Given the description of an element on the screen output the (x, y) to click on. 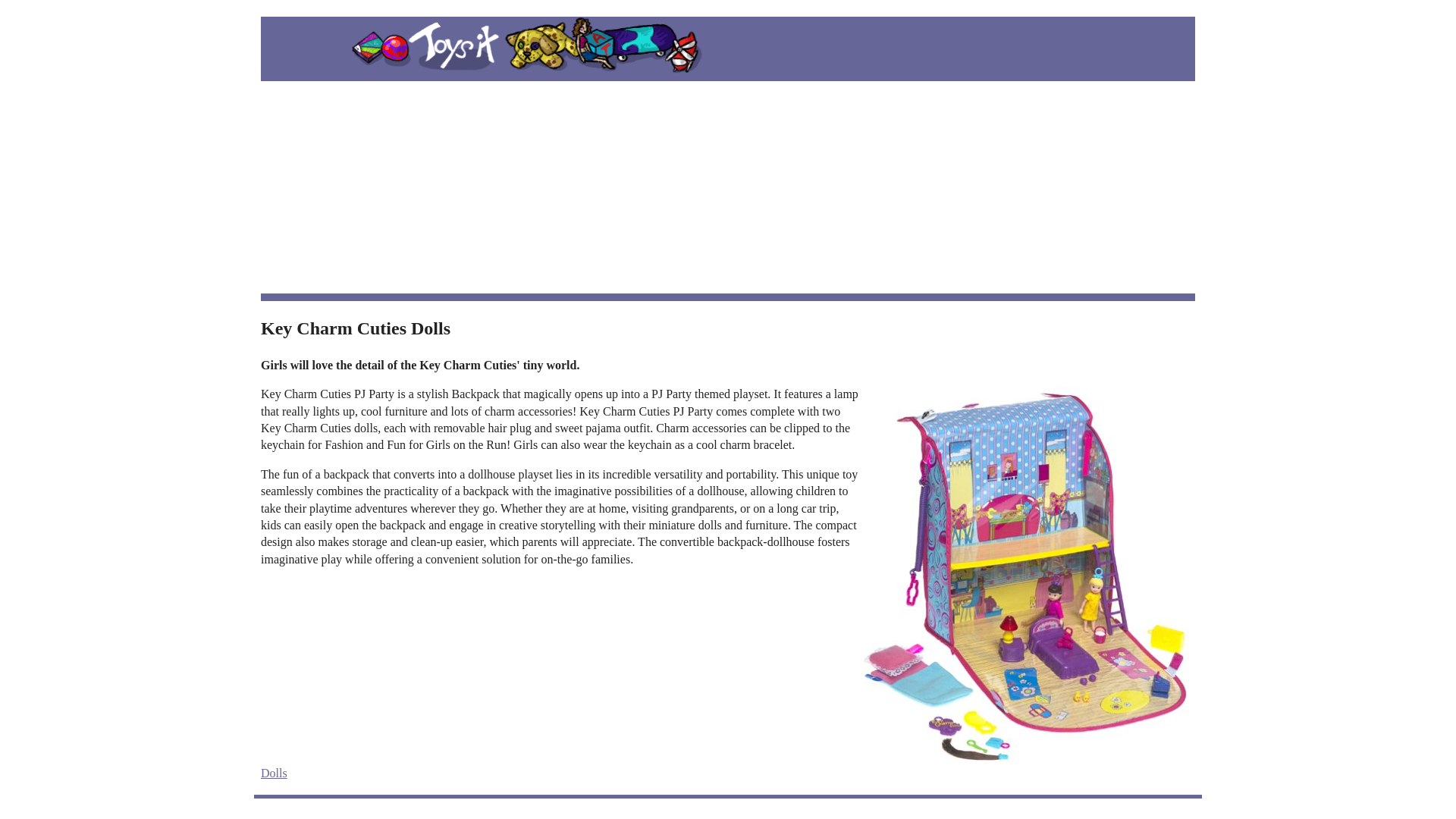
Dolls (273, 772)
